Given the description of an element on the screen output the (x, y) to click on. 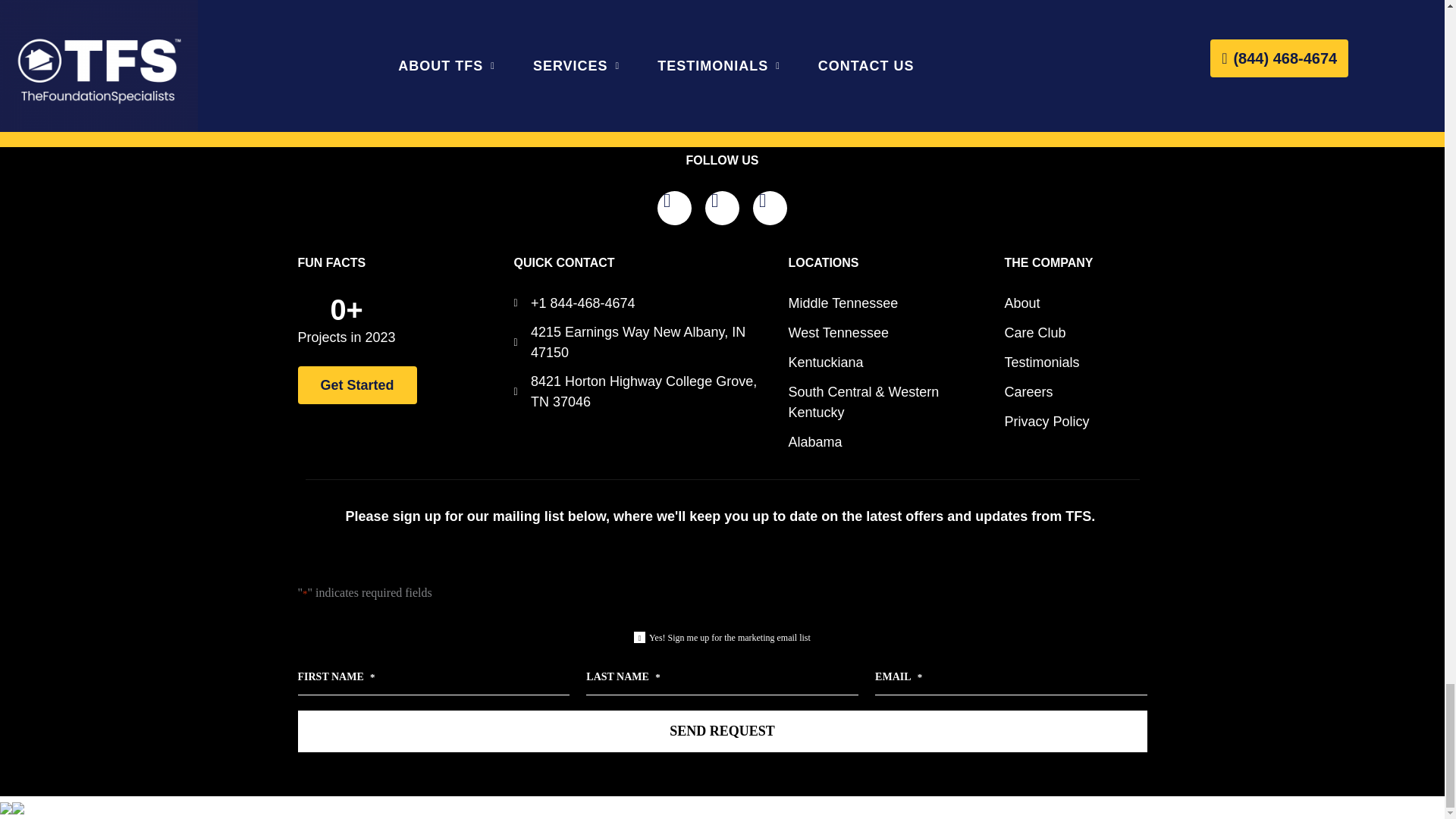
Send Request (722, 731)
